Given the description of an element on the screen output the (x, y) to click on. 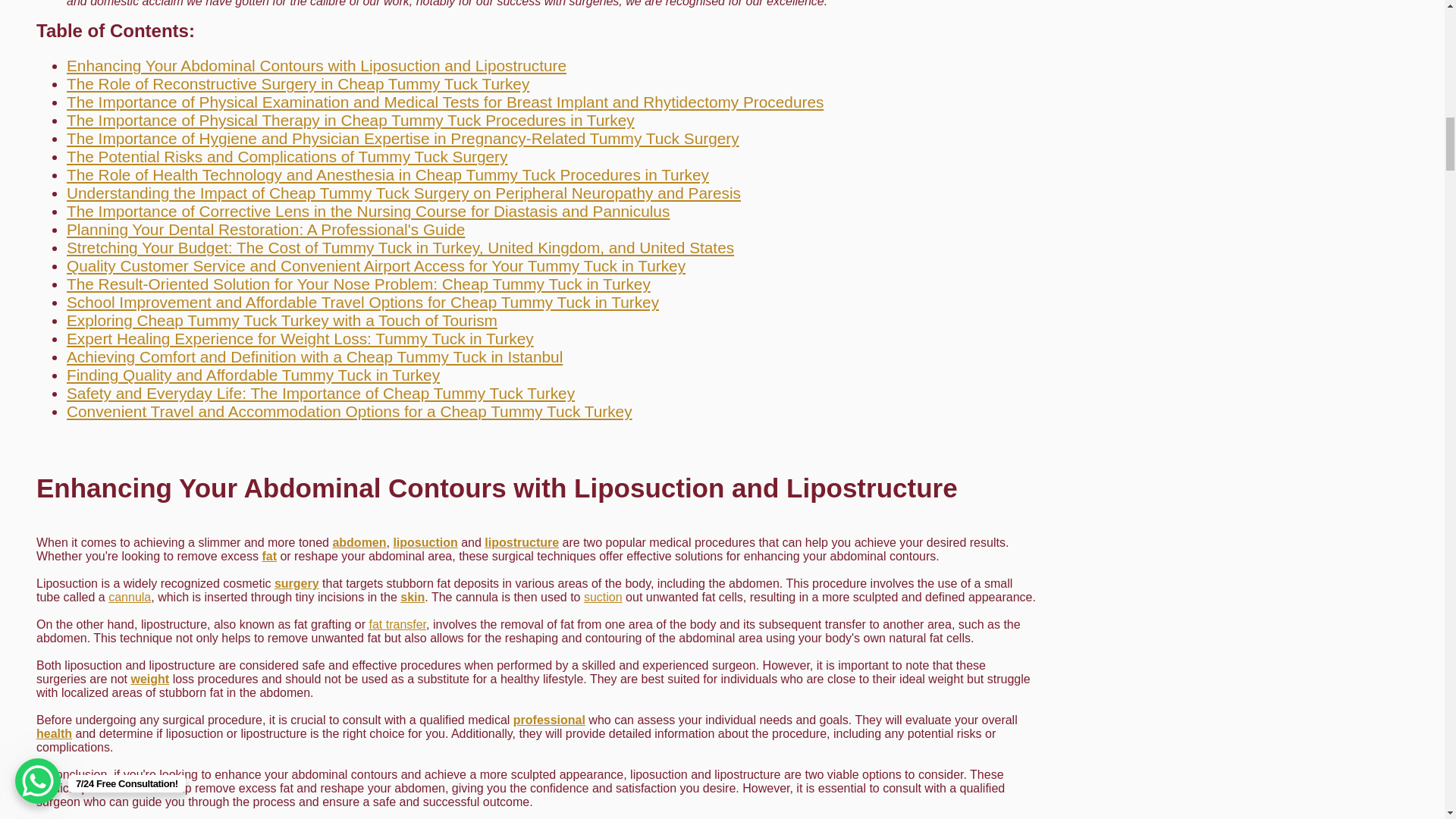
fat transfer (397, 624)
cannula (129, 596)
suction (603, 596)
